Given the description of an element on the screen output the (x, y) to click on. 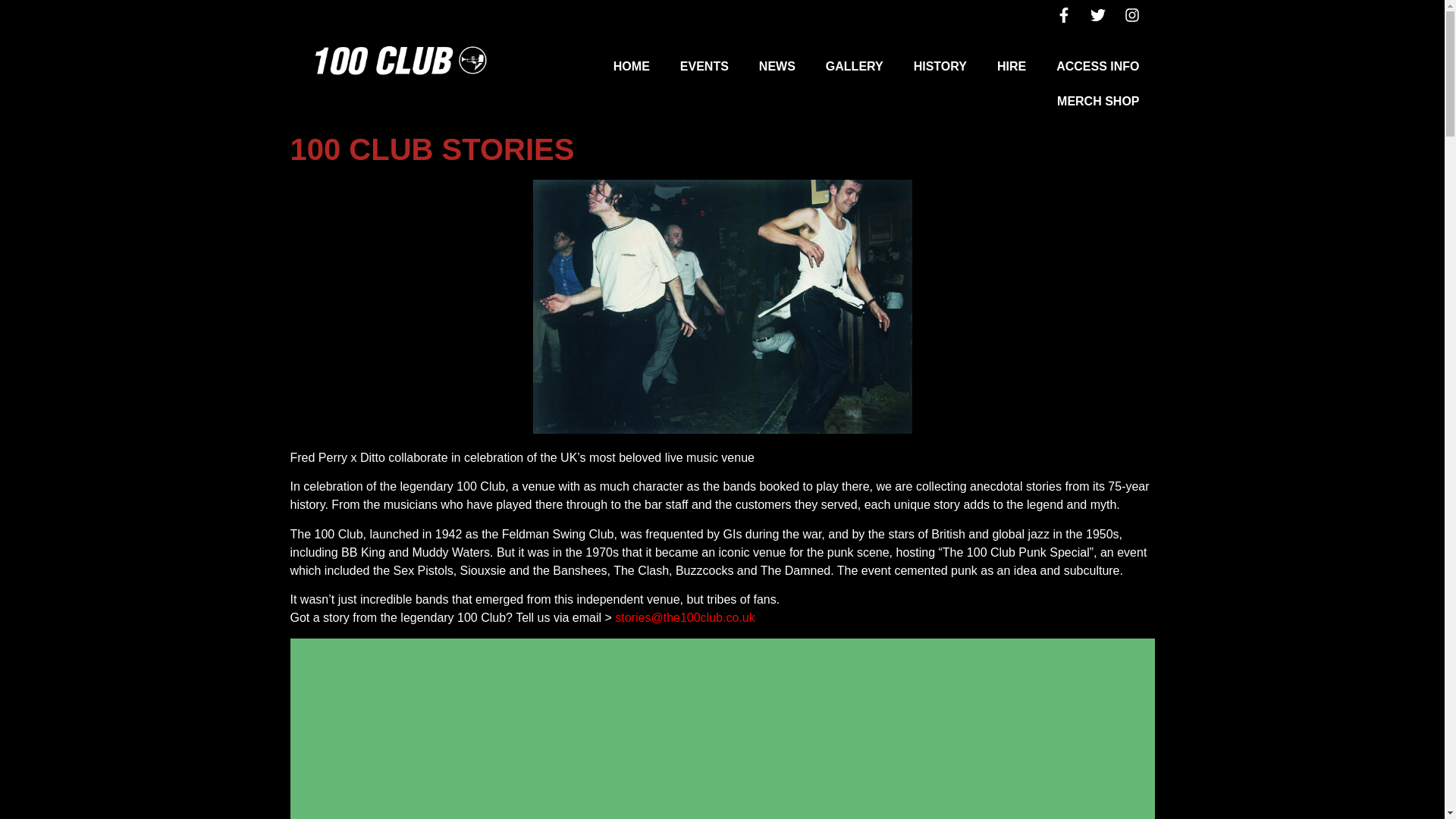
GALLERY (854, 66)
HOME (631, 66)
ACCESS INFO (1097, 66)
HIRE (1011, 66)
HISTORY (939, 66)
MERCH SHOP (1098, 101)
EVENTS (704, 66)
NEWS (777, 66)
